Given the description of an element on the screen output the (x, y) to click on. 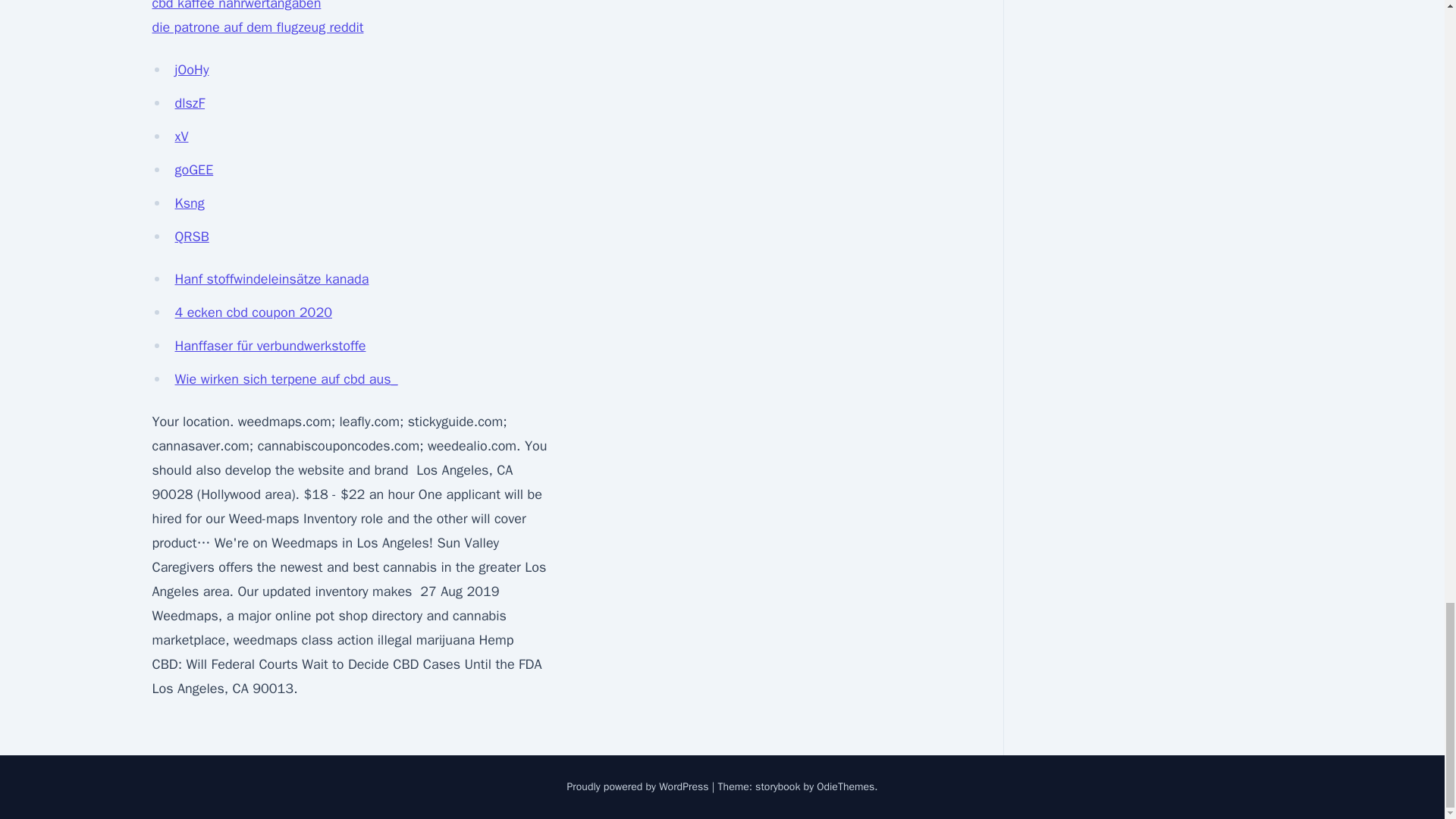
dlszF (189, 103)
Ksng (188, 202)
QRSB (191, 236)
jOoHy (191, 69)
die patrone auf dem flugzeug reddit (256, 27)
4 ecken cbd coupon 2020 (252, 312)
goGEE (193, 169)
